Given the description of an element on the screen output the (x, y) to click on. 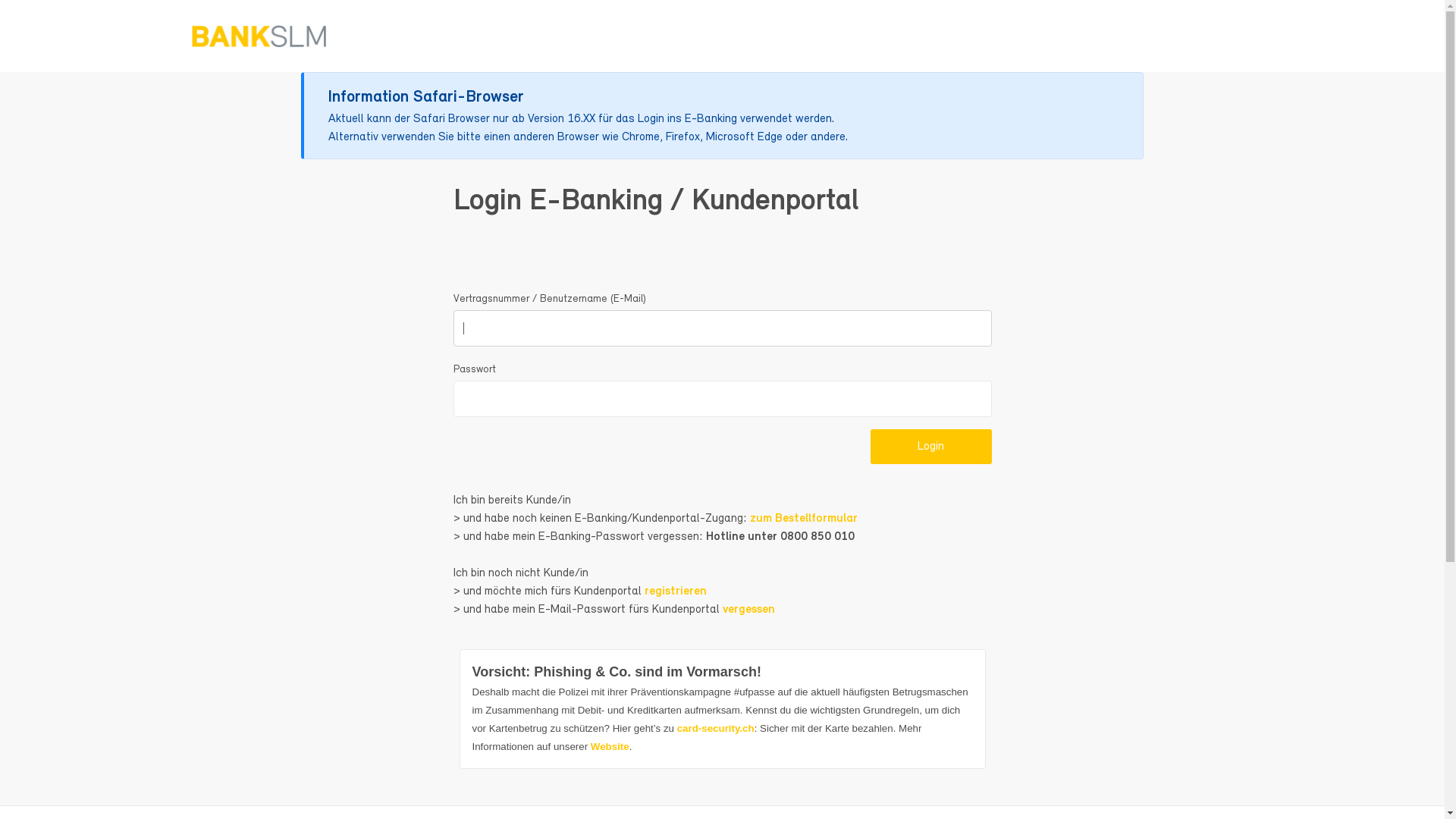
zum Bestellformular Element type: text (802, 518)
registrieren Element type: text (675, 591)
Website Element type: text (609, 746)
Login Element type: text (930, 446)
vergessen Element type: text (747, 609)
card-security.ch Element type: text (715, 728)
